Given the description of an element on the screen output the (x, y) to click on. 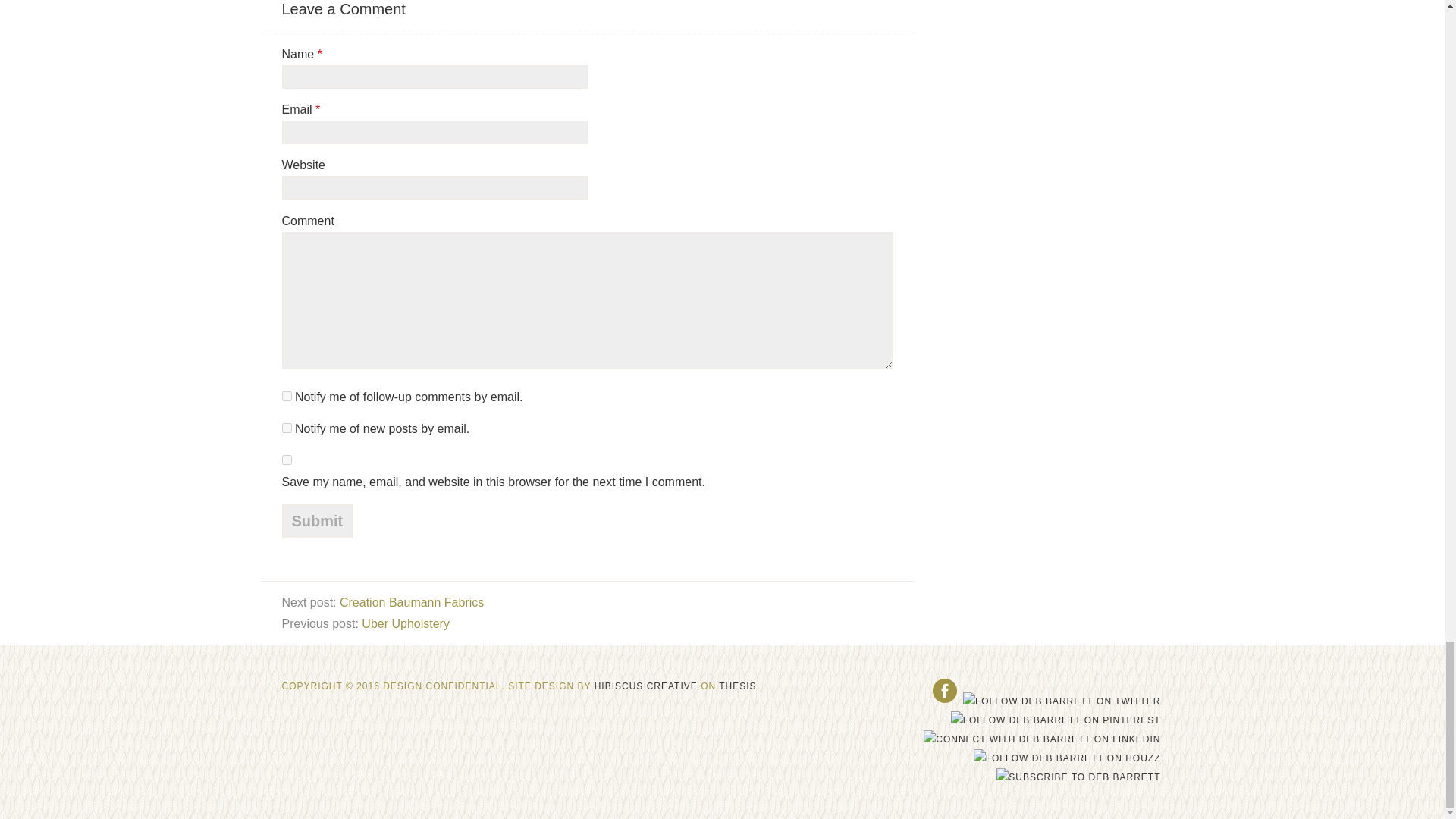
Uber Upholstery (405, 623)
Submit (317, 520)
yes (287, 460)
subscribe (287, 428)
Creation Baumann Fabrics (411, 602)
subscribe (287, 396)
Submit (317, 520)
